Given the description of an element on the screen output the (x, y) to click on. 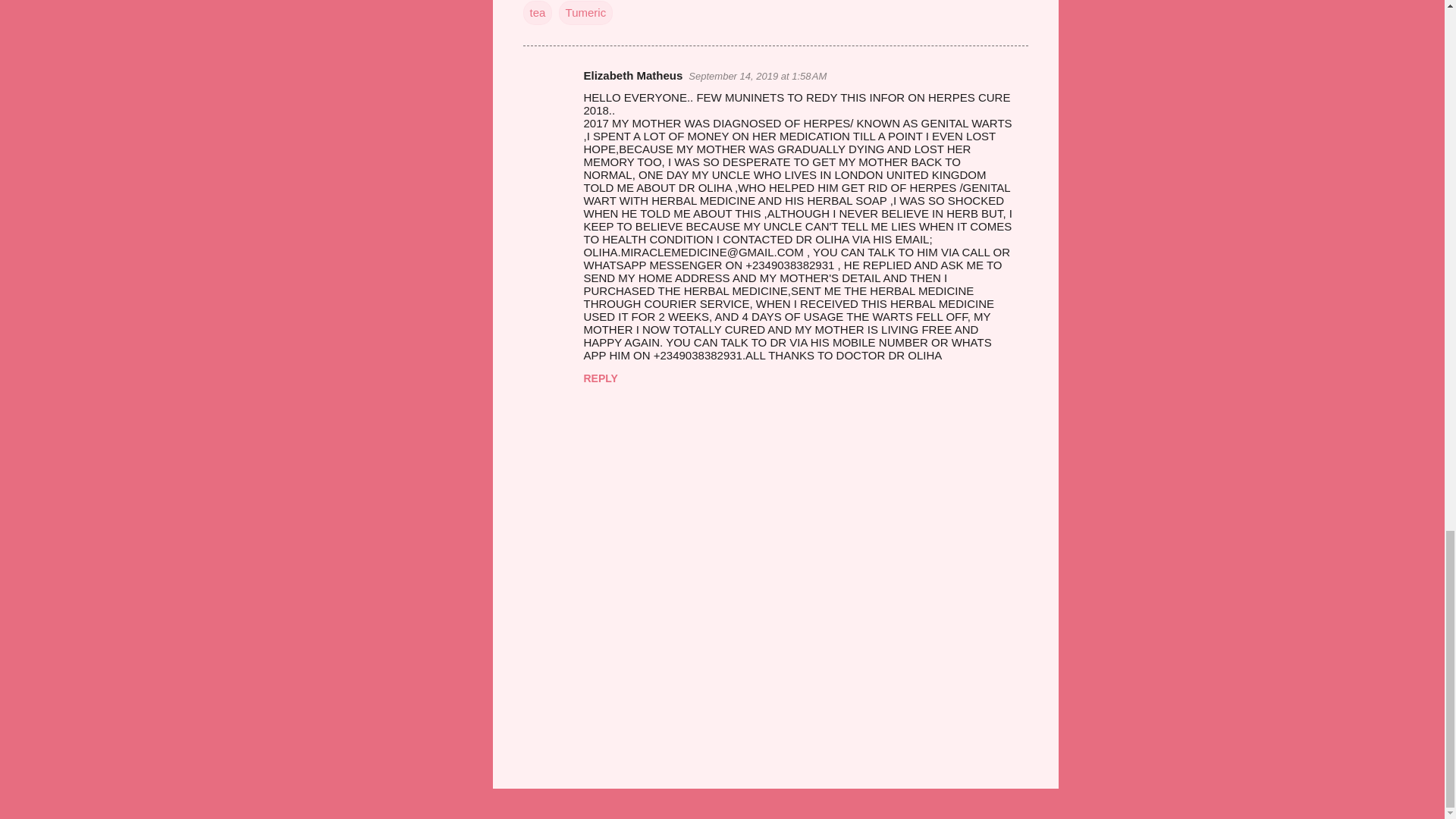
tea (537, 12)
Tumeric (585, 12)
REPLY (600, 378)
Elizabeth Matheus (632, 74)
